Given the description of an element on the screen output the (x, y) to click on. 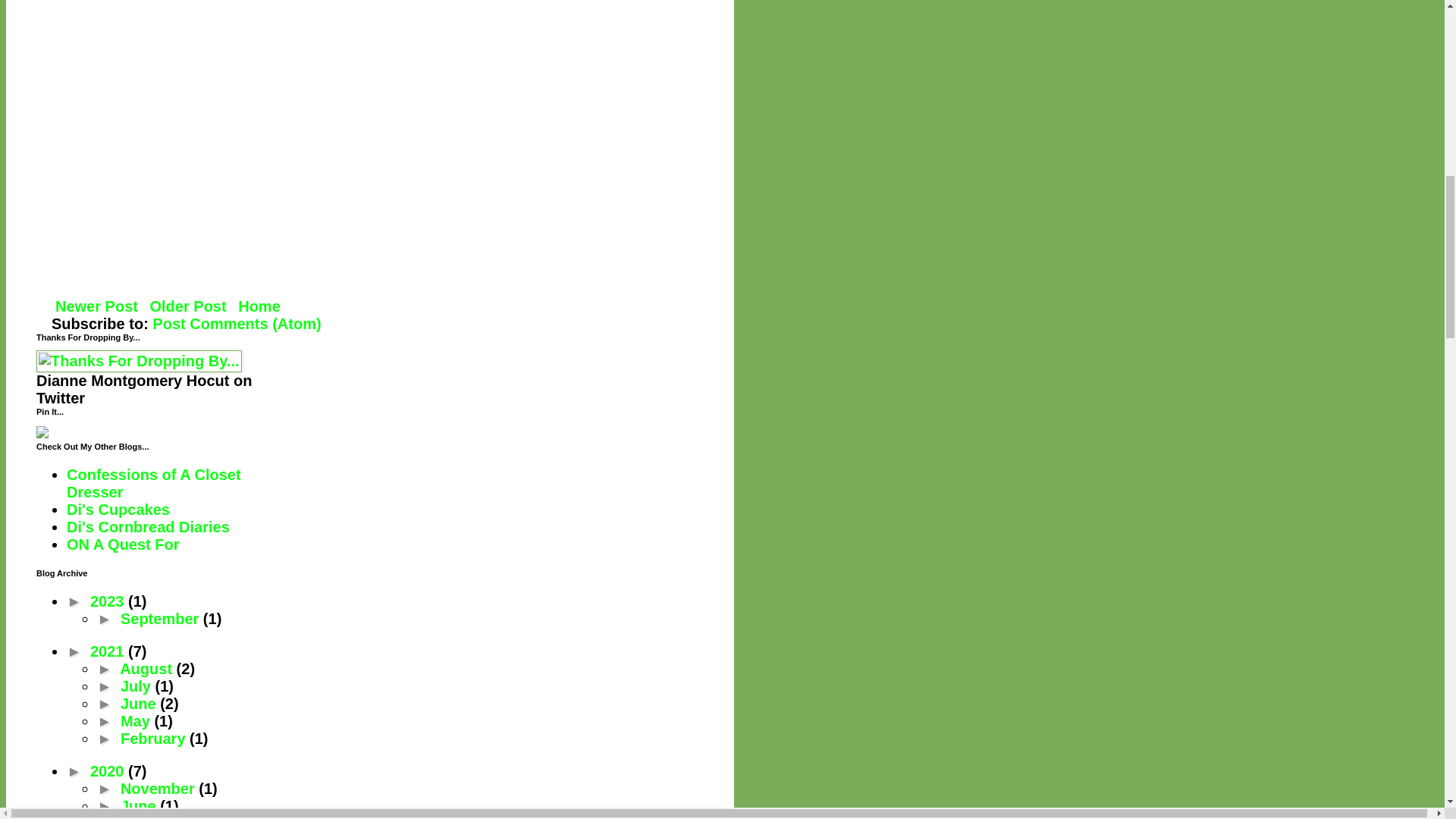
Home (258, 306)
June (140, 703)
Older Post (187, 306)
Newer Post (95, 306)
2023 (109, 600)
September (161, 618)
2021 (109, 651)
Di's Cupcakes (118, 509)
Newer Post (95, 306)
August (147, 668)
May (137, 720)
ON A Quest For (122, 544)
Older Post (187, 306)
Confessions of A Closet Dresser (153, 483)
July (137, 686)
